Given the description of an element on the screen output the (x, y) to click on. 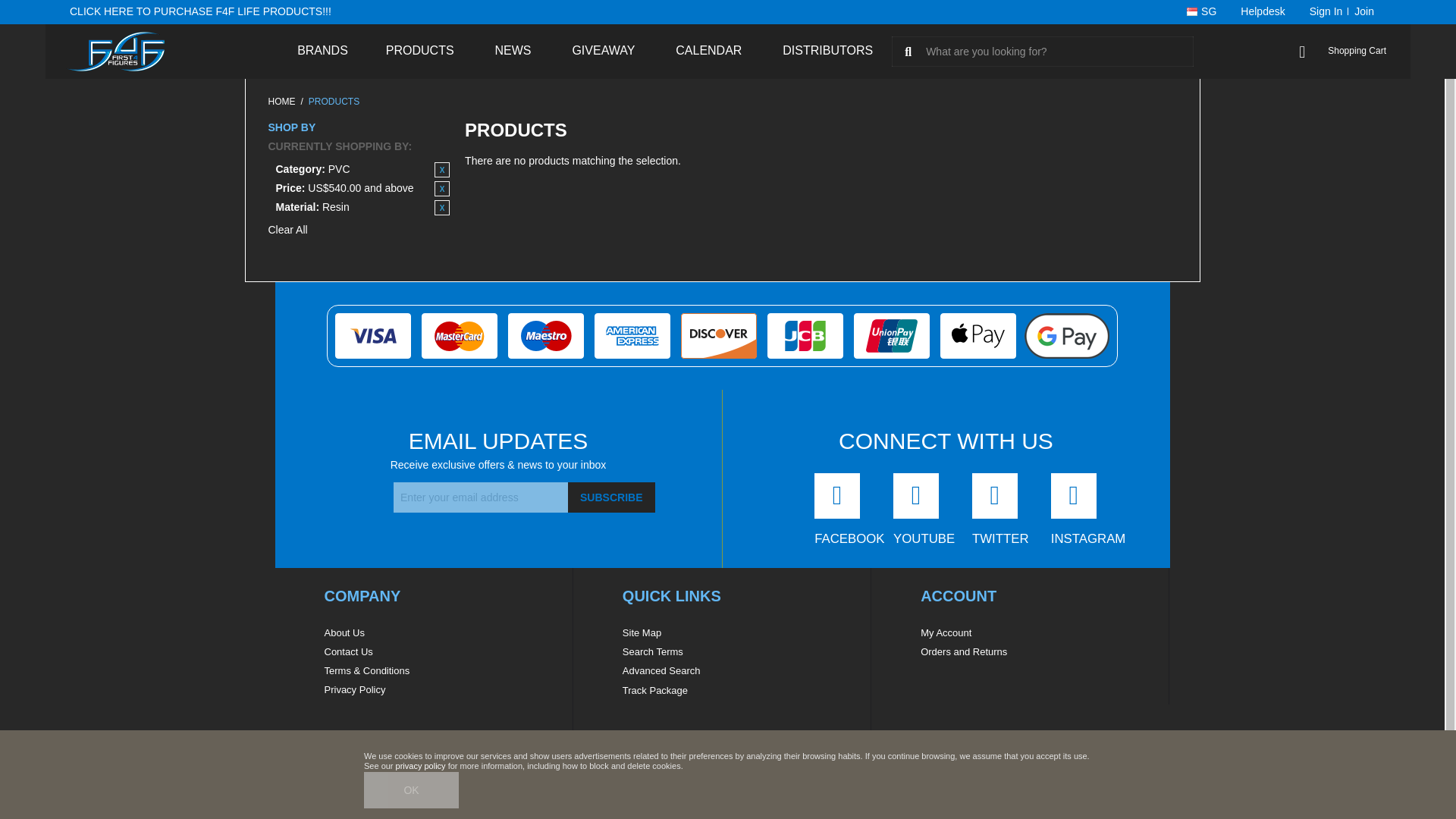
Apple Pay (978, 334)
Sign In (1323, 11)
American Express (631, 334)
Helpdesk (1262, 11)
 SG (1200, 11)
Discover (719, 334)
JCB (805, 334)
Remove This Item (441, 188)
Go to Home Page (281, 101)
Remove This Item (441, 169)
